Given the description of an element on the screen output the (x, y) to click on. 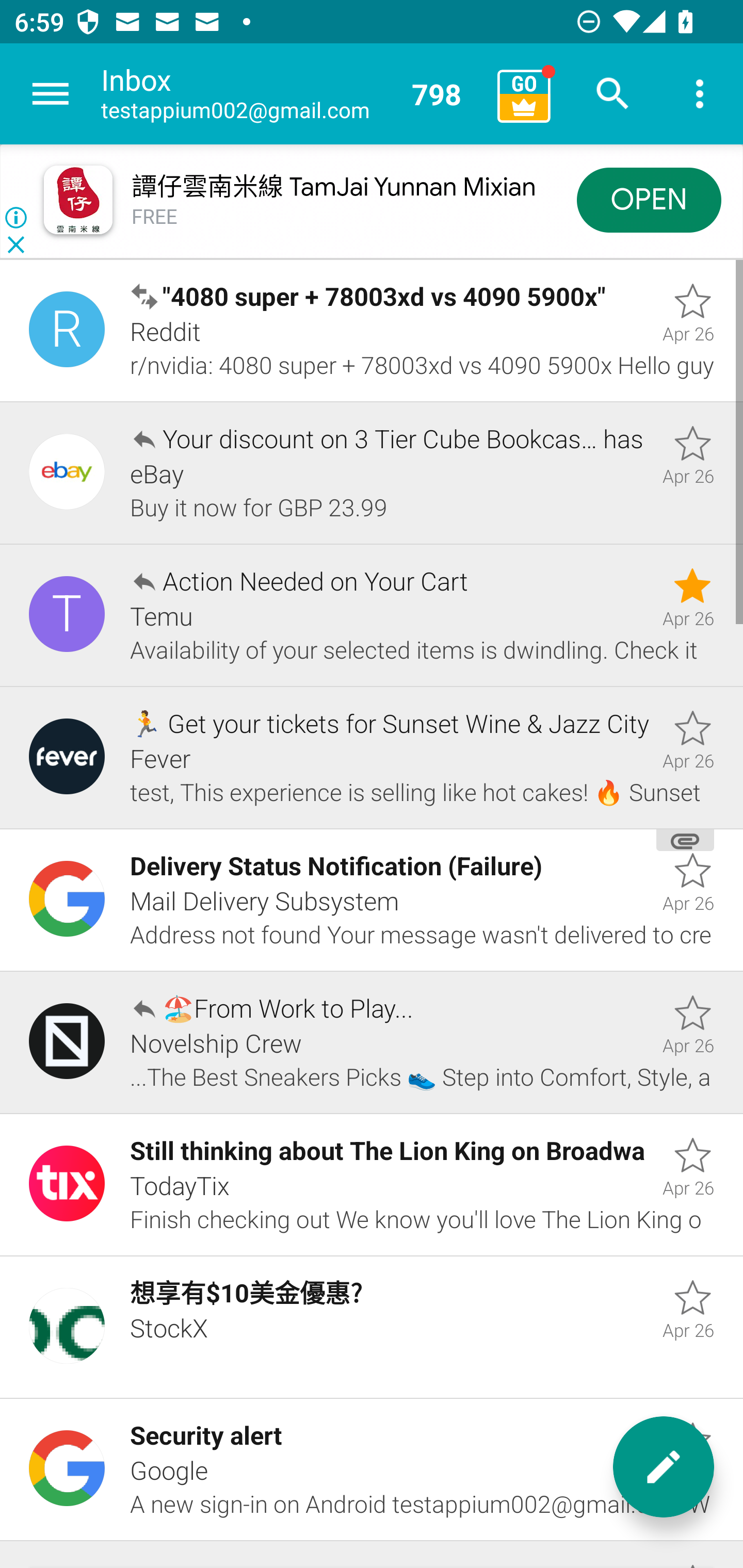
Navigate up (50, 93)
Inbox testappium002@gmail.com 798 (291, 93)
Search (612, 93)
More options (699, 93)
OPEN (648, 199)
譚仔雲南米線 TamJai Yunnan Mixian (333, 186)
FREE (154, 216)
Unread, 想享有$10美金優惠?, StockX, Apr 26 (371, 1326)
New message (663, 1466)
